Given the description of an element on the screen output the (x, y) to click on. 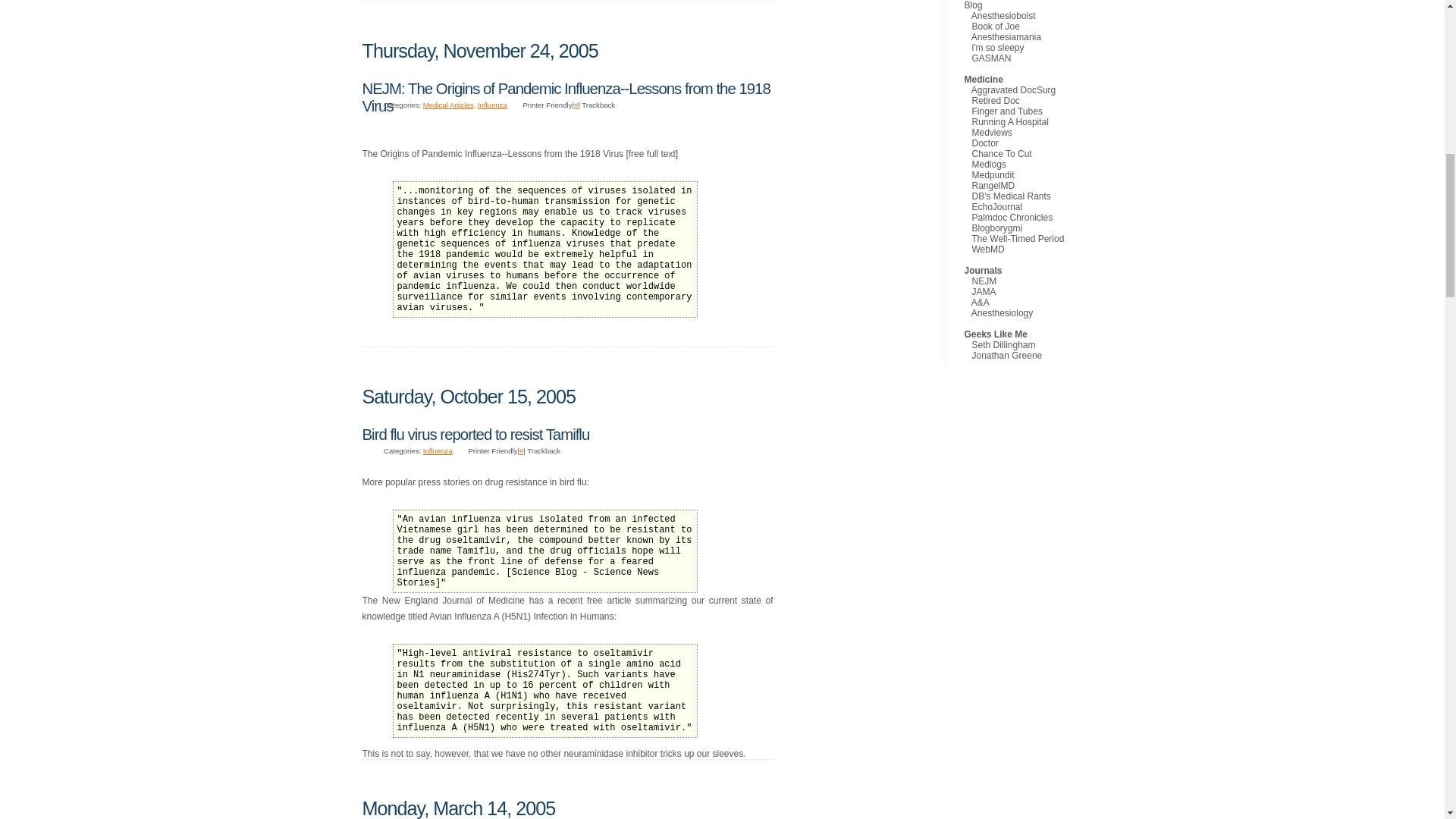
Influenza (437, 450)
Influenza (491, 104)
Medical Articles (448, 104)
